Given the description of an element on the screen output the (x, y) to click on. 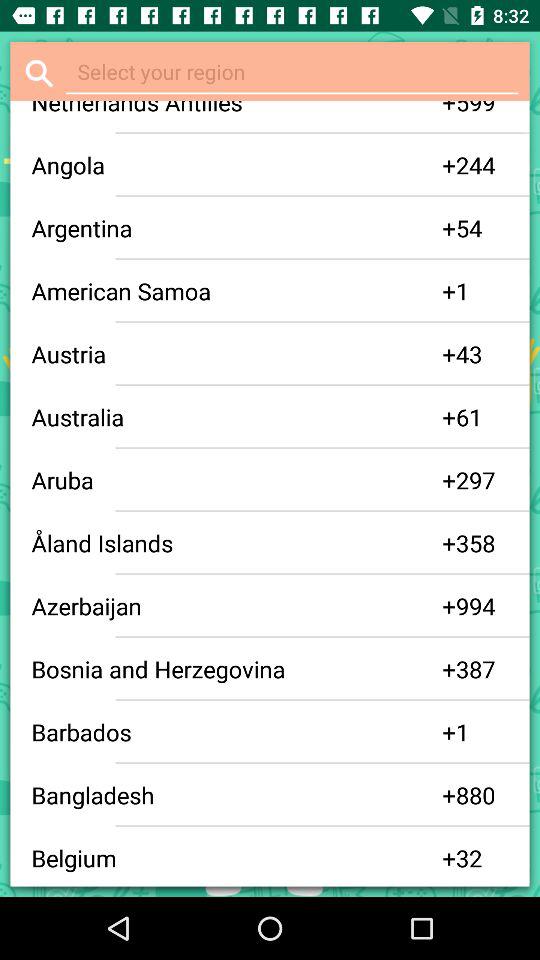
tap app to the left of 244 (449, 165)
